Given the description of an element on the screen output the (x, y) to click on. 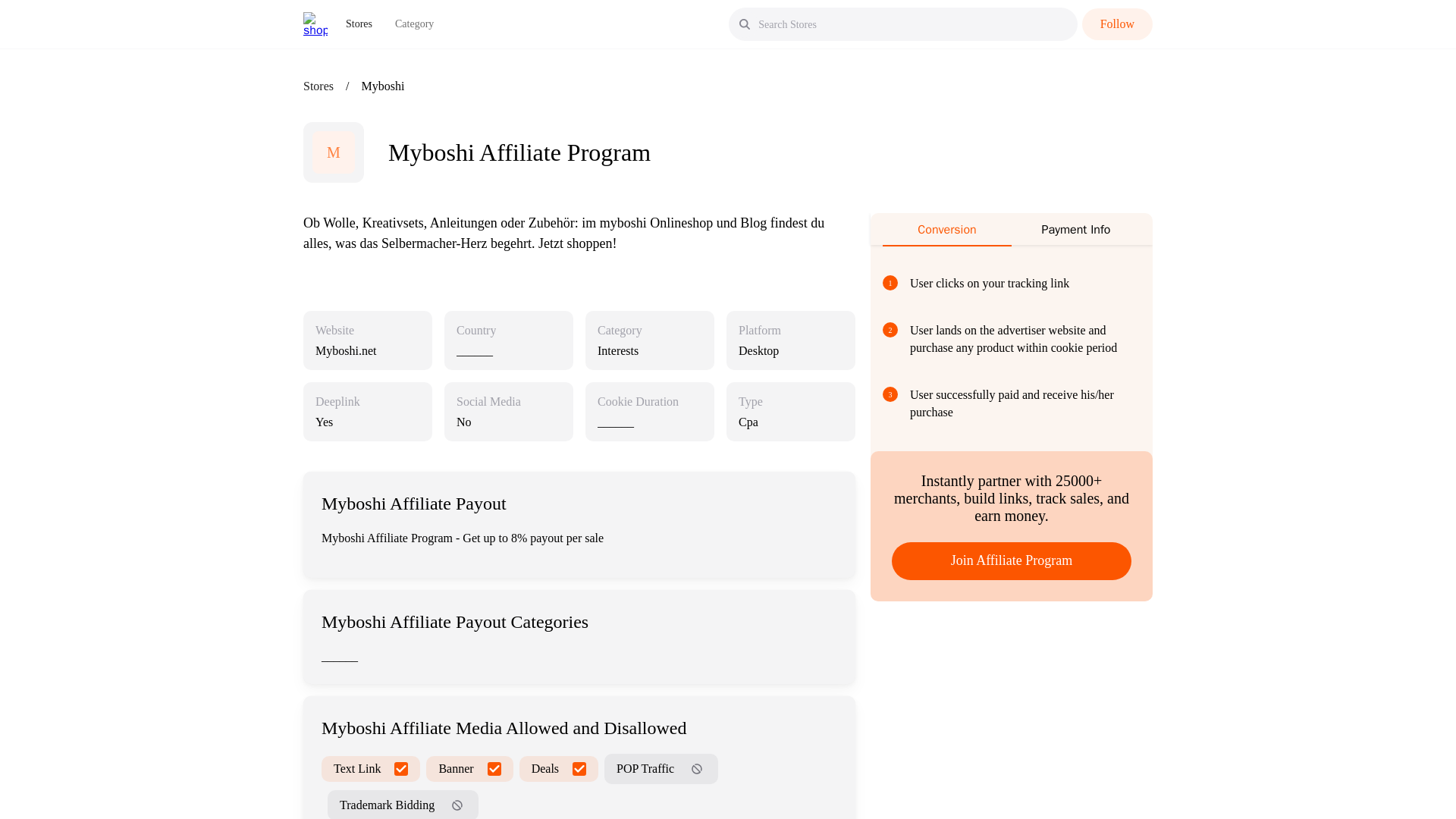
Country (476, 330)
Myboshi.net (345, 350)
Deeplink (337, 401)
Website (334, 330)
Platform (759, 330)
Category (413, 24)
Social Media (489, 401)
Cookie Duration (637, 401)
Myboshi.net (367, 350)
desktop (790, 350)
Type (750, 401)
Follow (1117, 24)
Category (619, 330)
Join Affiliate Program (1011, 560)
cpa (790, 422)
